Given the description of an element on the screen output the (x, y) to click on. 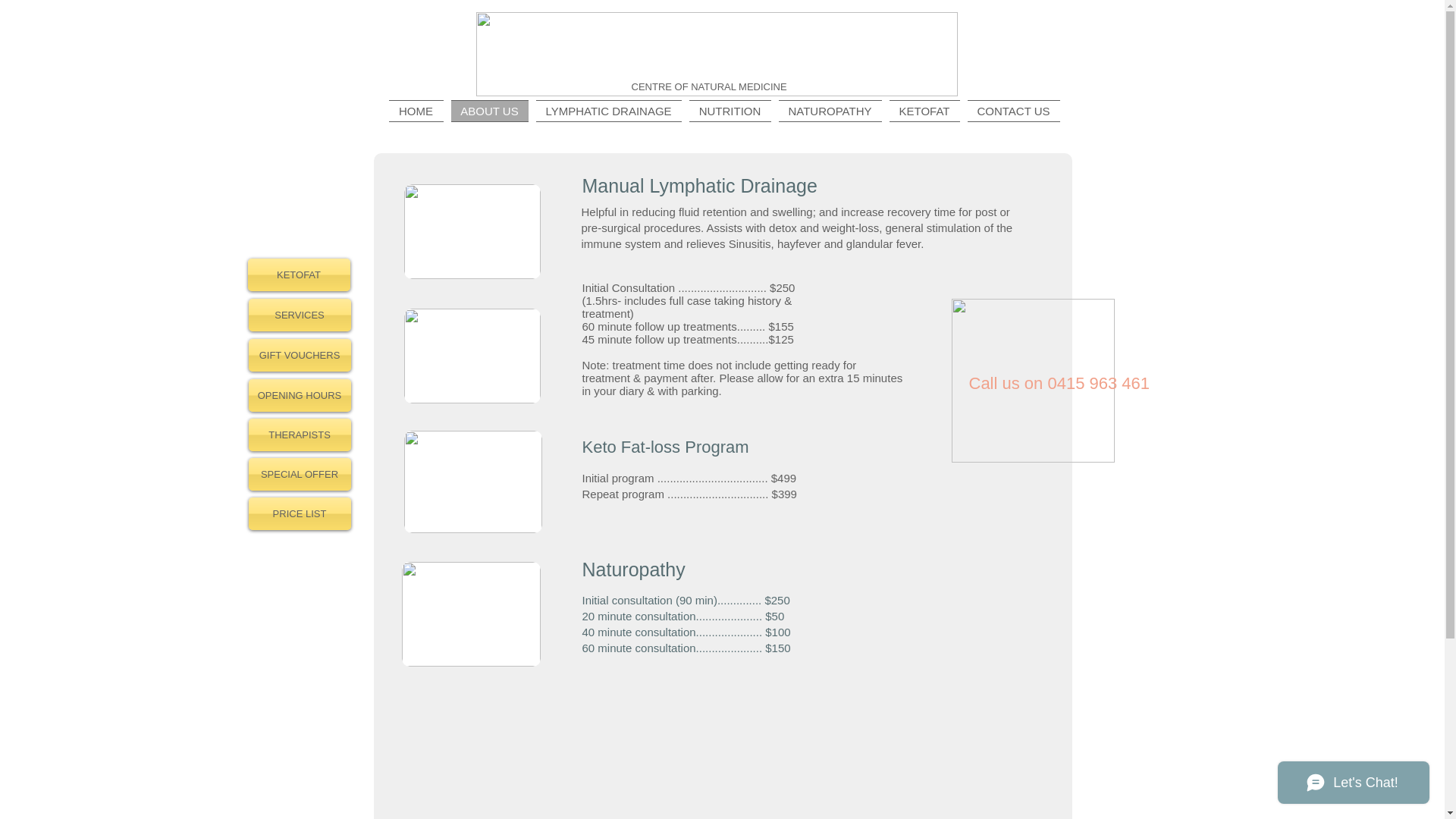
LYMPHATIC DRAINAGE Element type: text (608, 111)
GIFT VOUCHERS Element type: text (299, 354)
SPECIAL OFFER Element type: text (299, 474)
NATUROPATHY Element type: text (830, 111)
THERAPISTS Element type: text (299, 434)
     Element type: text (758, 446)
NUTRITION Element type: text (730, 111)
HOME Element type: text (417, 111)
KETOFAT Element type: text (298, 274)
ABOUT US Element type: text (489, 111)
KETOFAT Element type: text (924, 111)
SERVICES Element type: text (299, 314)
CONTACT US Element type: text (1011, 111)
PRICE LIST Element type: text (299, 513)
OPENING HOURS Element type: text (299, 395)
House of Health | Centre of natural medicine Element type: hover (716, 54)
